Given the description of an element on the screen output the (x, y) to click on. 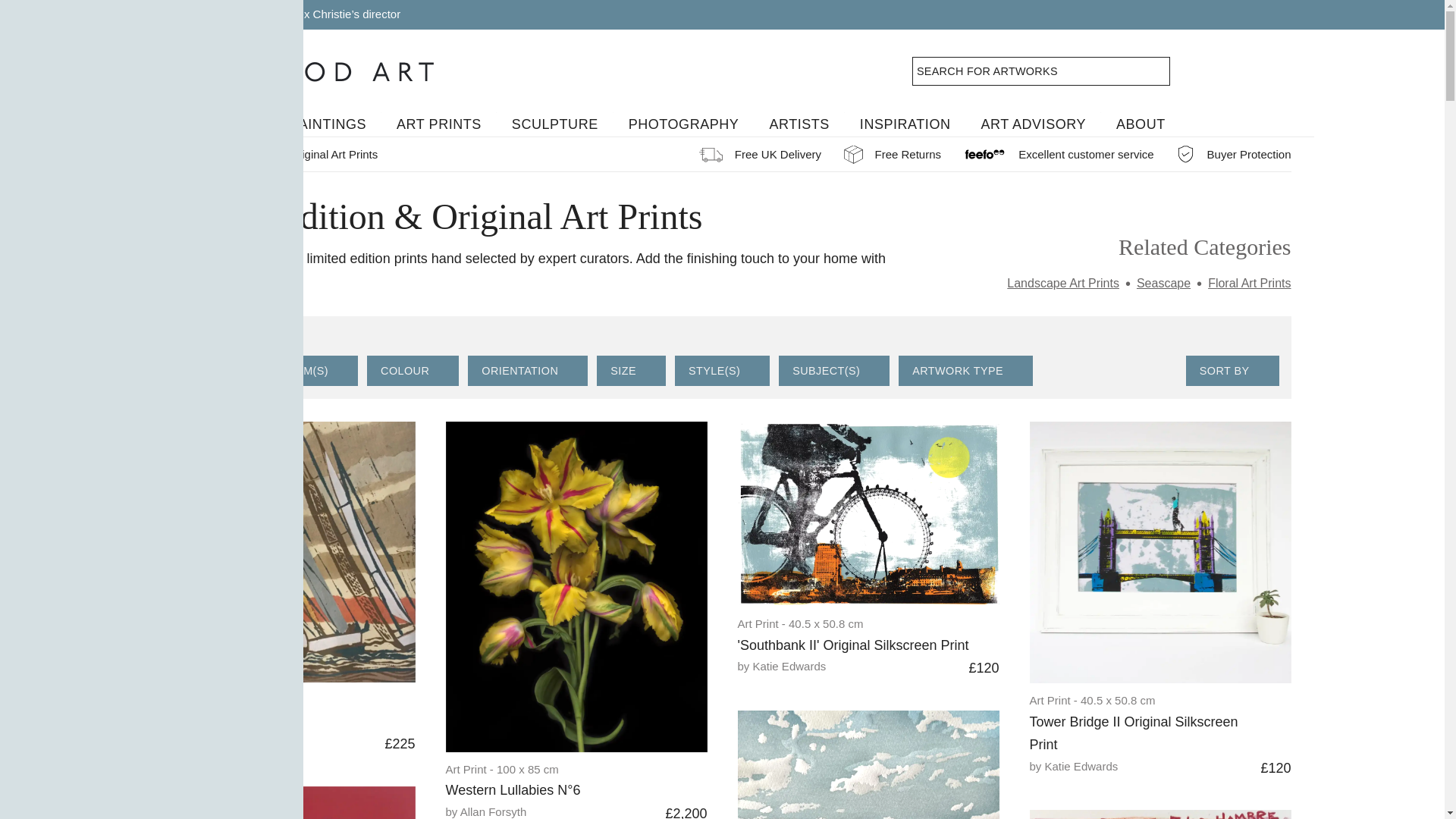
Allan Forsyth (552, 810)
'Southbank II' Original Silkscreen Print (855, 645)
Add to wishlist (698, 774)
Add to wishlist (405, 705)
John Scott Martin (265, 742)
Close Finish (283, 551)
'Southbank II' Original Silkscreen Print (867, 513)
Katie Edwards (849, 666)
Close Finish (271, 721)
Add to wishlist (989, 630)
